Given the description of an element on the screen output the (x, y) to click on. 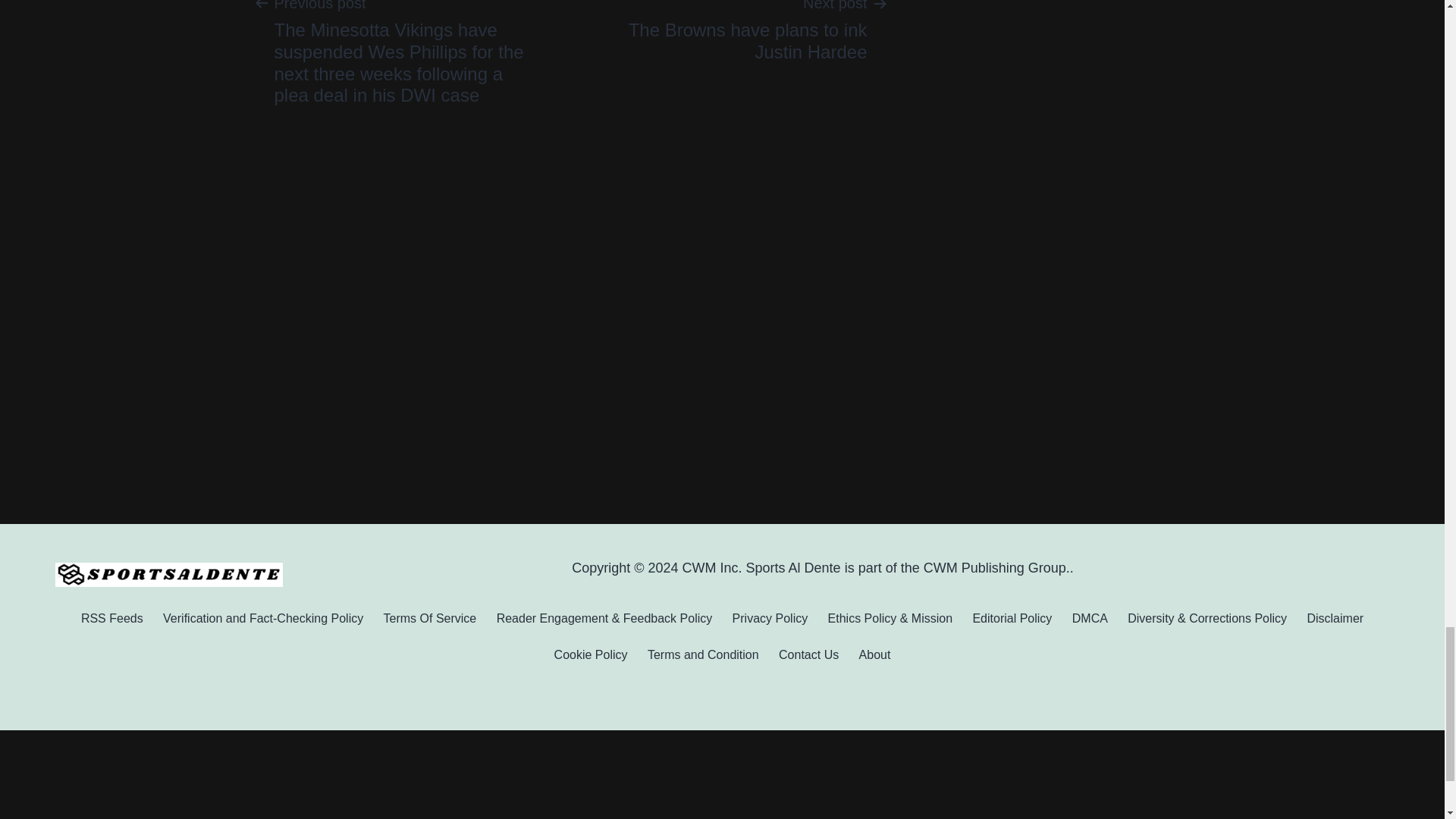
RSS Feeds (111, 617)
Terms Of Service (429, 617)
Privacy Policy (769, 617)
CWM Publishing Group. (996, 567)
Verification and Fact-Checking Policy (263, 617)
